Given the description of an element on the screen output the (x, y) to click on. 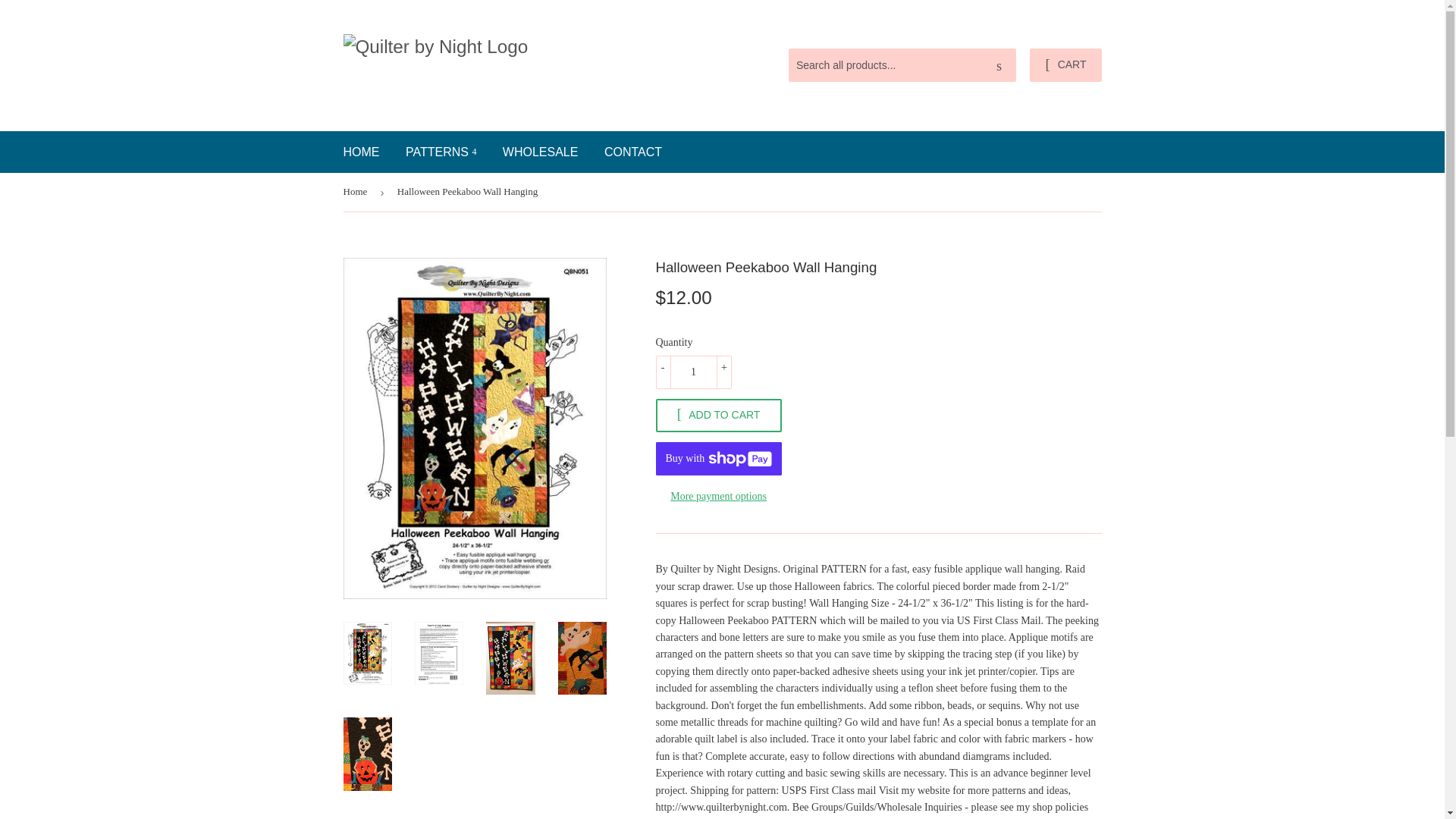
CART (1064, 64)
1 (692, 372)
WHOLESALE (540, 152)
HOME (361, 152)
CONTACT (632, 152)
PATTERNS (440, 152)
Search (998, 65)
More payment options (717, 496)
ADD TO CART (717, 415)
